Given the description of an element on the screen output the (x, y) to click on. 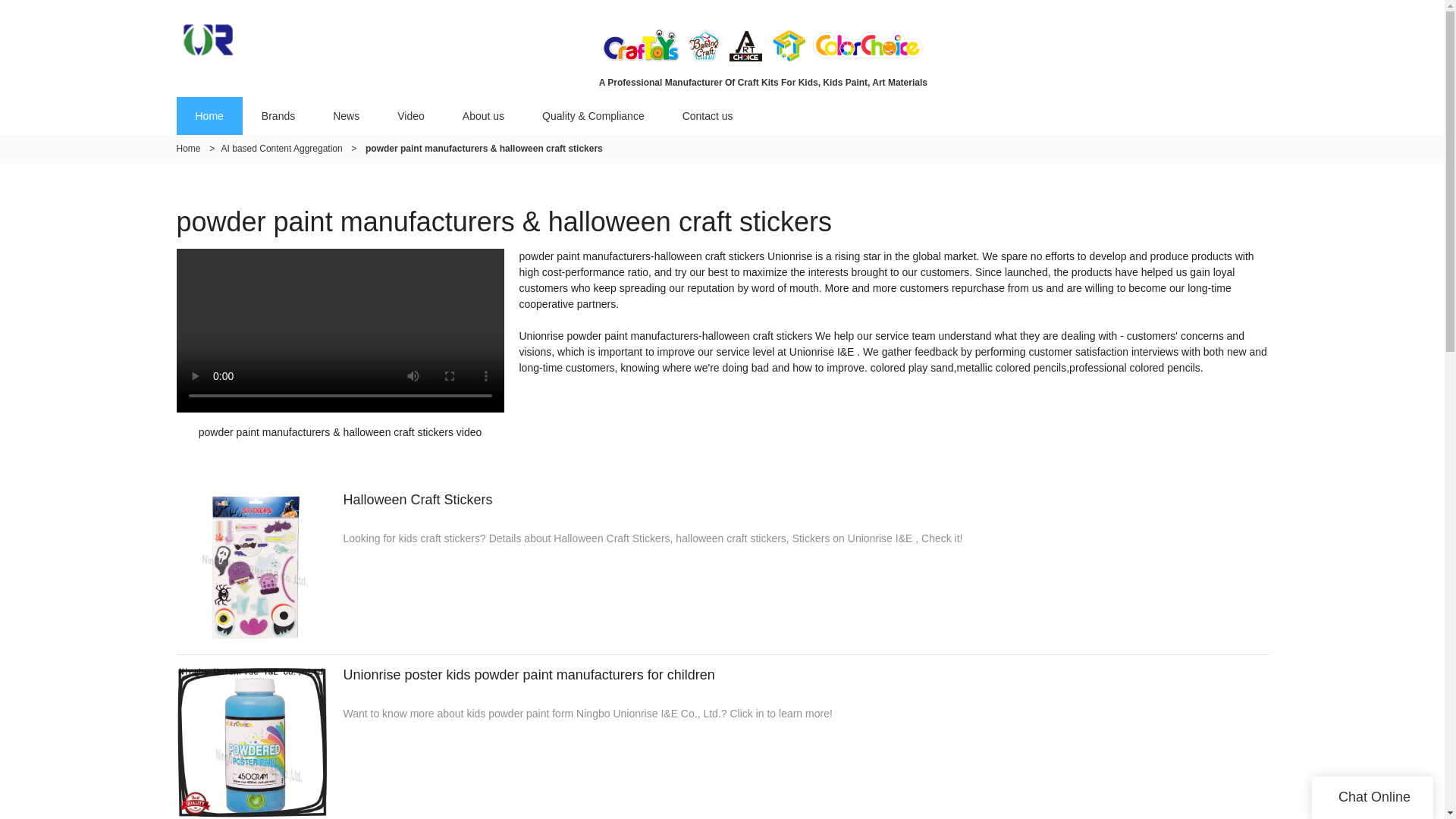
Home (209, 115)
About us (483, 115)
Contact us (707, 115)
News (346, 115)
AI based Content Aggregation (281, 148)
Home (188, 148)
Video (411, 115)
Brands (278, 115)
